Given the description of an element on the screen output the (x, y) to click on. 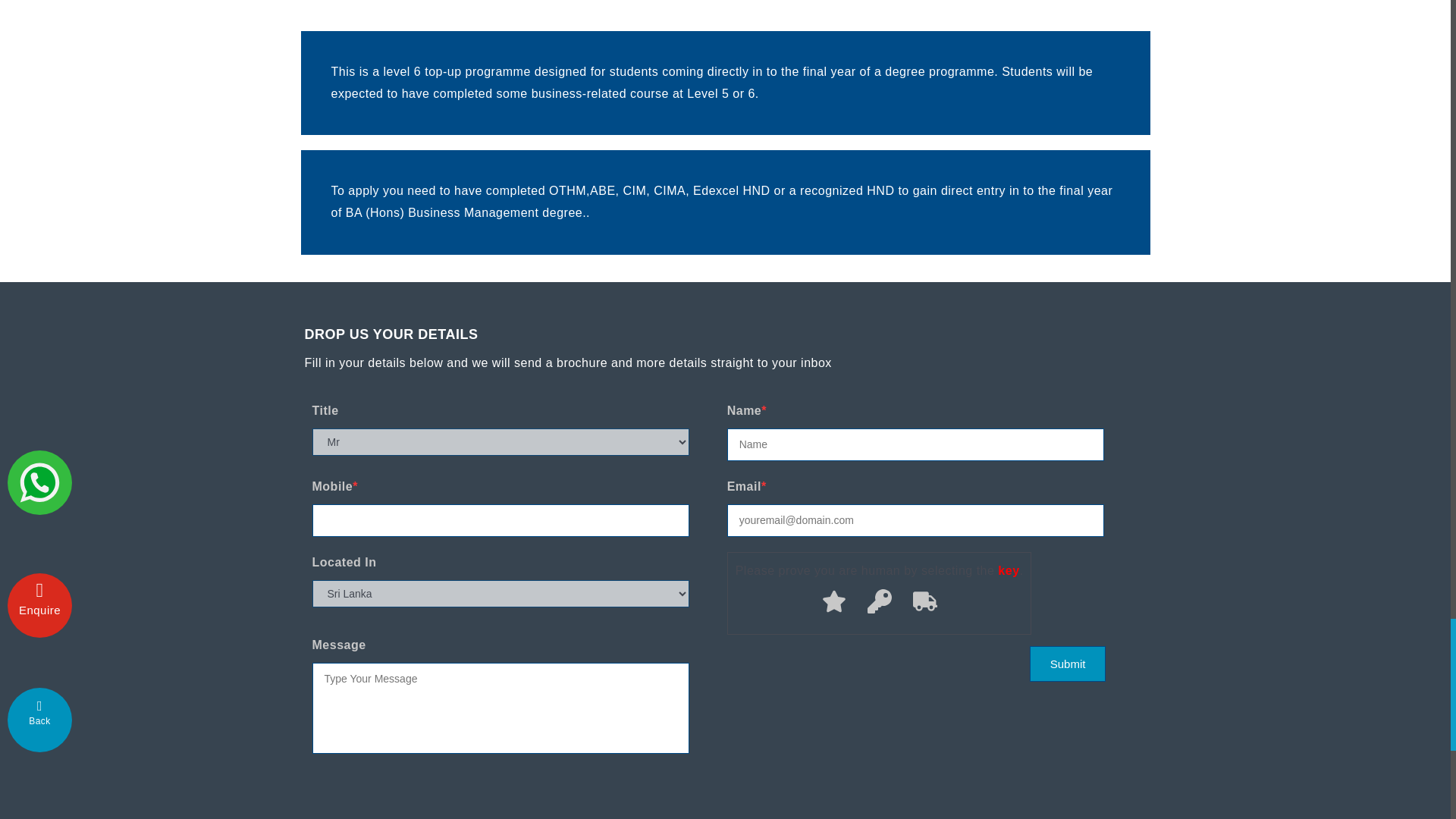
Submit (1067, 663)
